Given the description of an element on the screen output the (x, y) to click on. 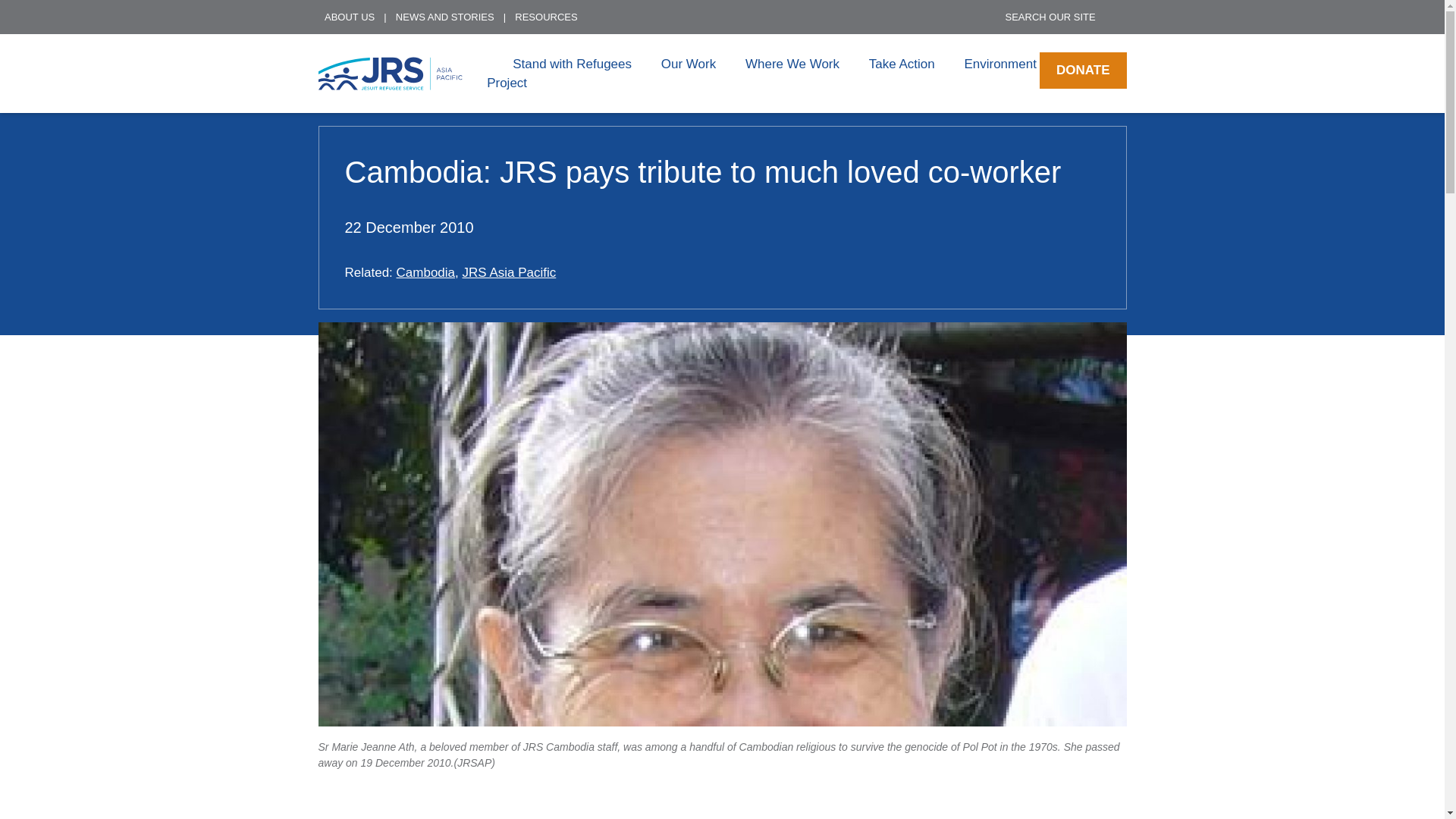
Stand with Refugees (571, 63)
JRS Asia Pacific (509, 272)
Where We Work (792, 63)
Skip to main content (639, 4)
DONATE (1082, 70)
Cambodia (425, 272)
ABOUT US (352, 17)
Environment Project (761, 73)
Our Work (688, 63)
RESOURCES (549, 17)
